Given the description of an element on the screen output the (x, y) to click on. 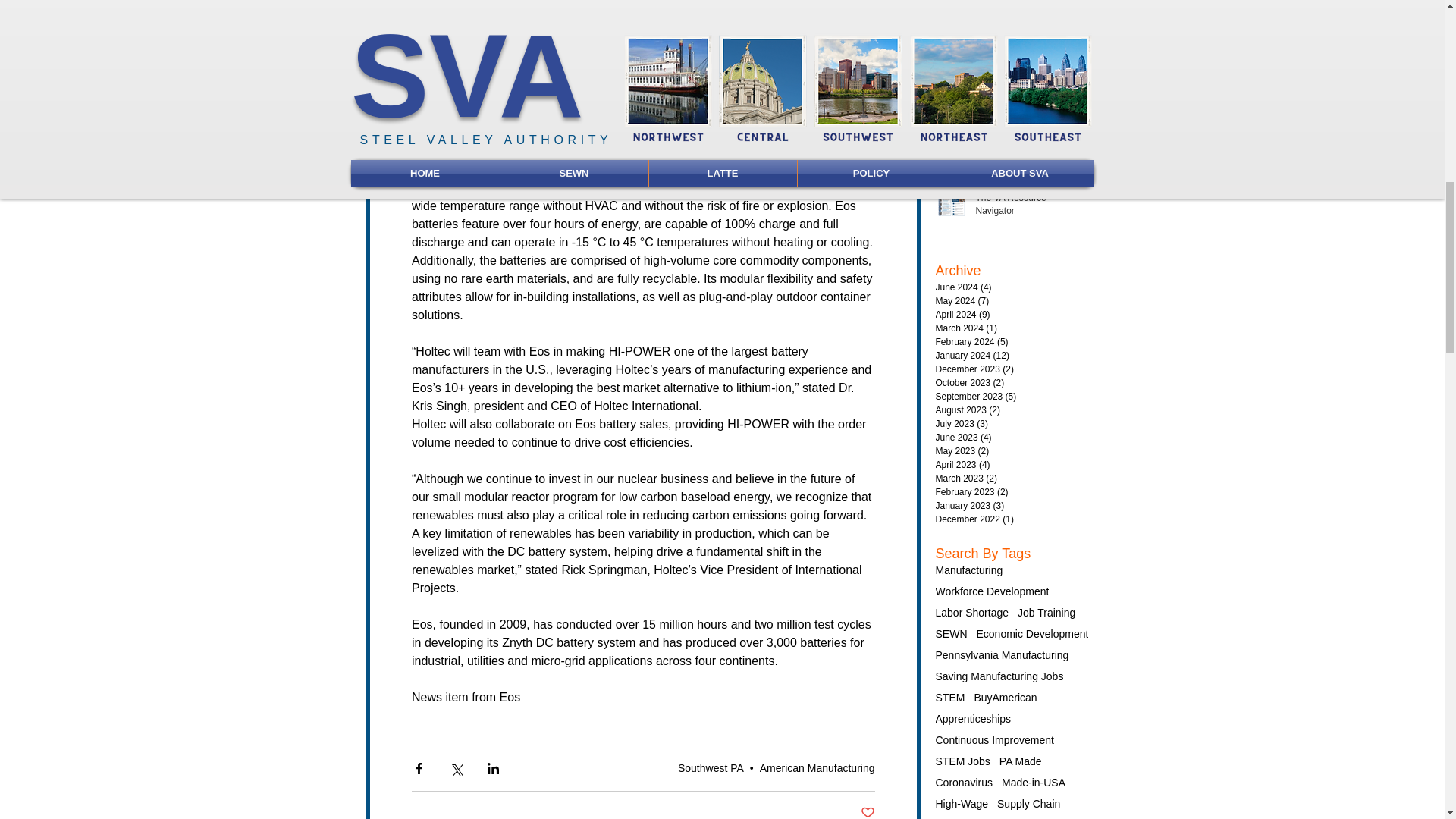
Post not marked as liked (867, 812)
It's Difficult to Manufacturer Today (1029, 126)
Southwest PA (711, 767)
Customer Discovery 101 (1029, 41)
American Manufacturing (817, 767)
The VA Resource Navigator (1029, 207)
